Given the description of an element on the screen output the (x, y) to click on. 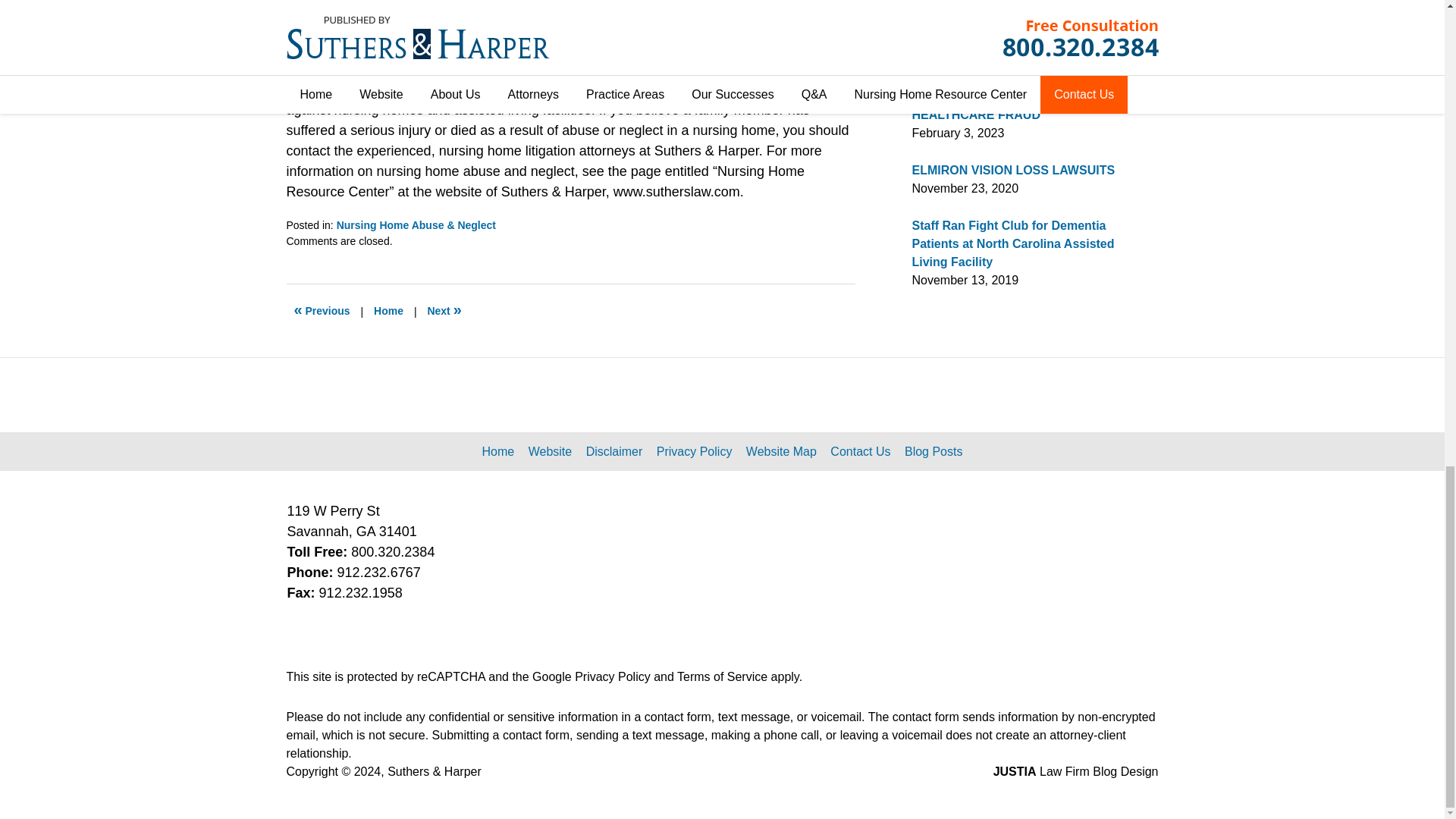
Takata Airbag Recalls (322, 311)
Home (388, 311)
